Given the description of an element on the screen output the (x, y) to click on. 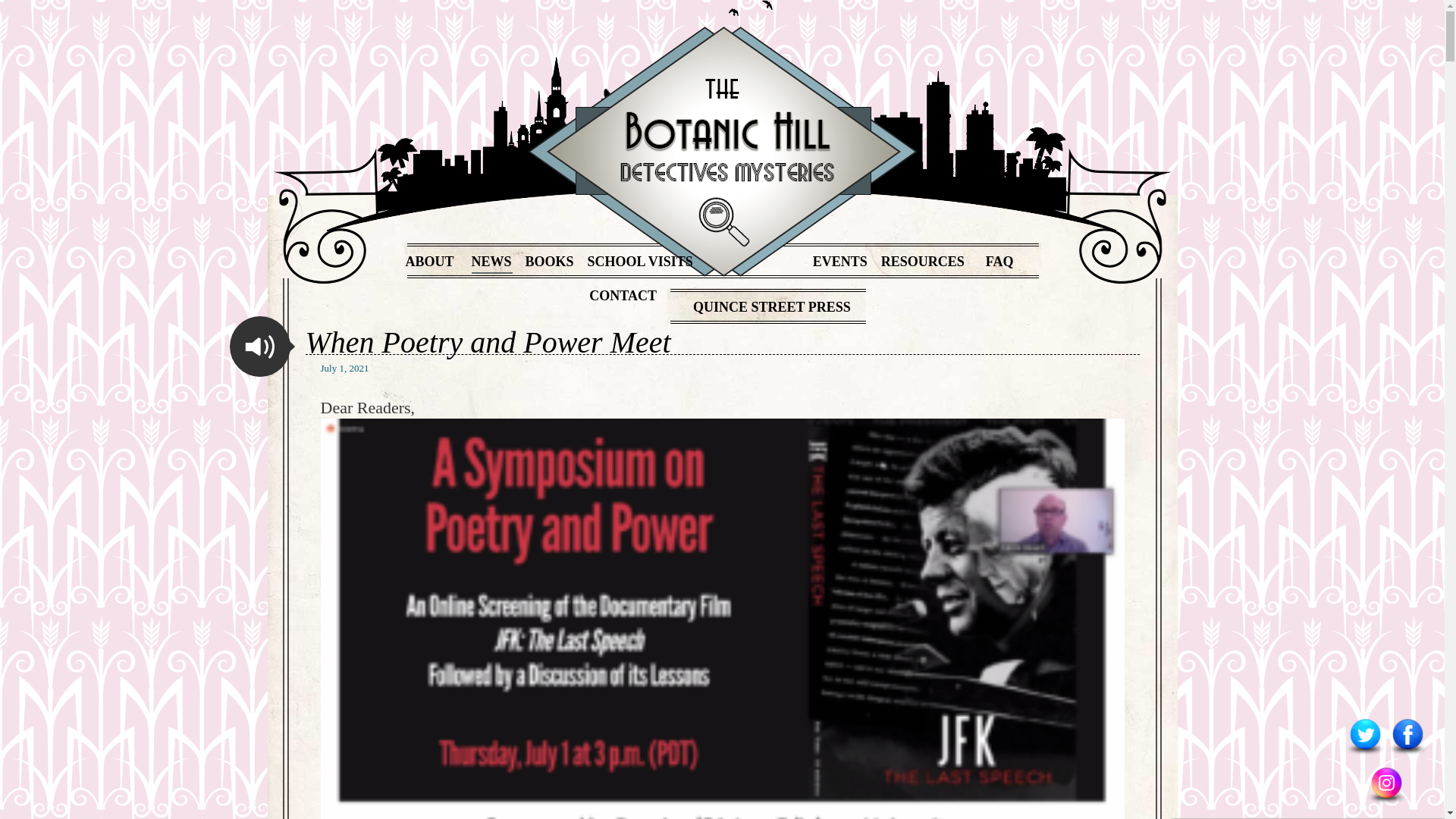
ABOUT (428, 261)
FAQ (999, 261)
NEWS (490, 261)
CONTACT (622, 295)
When Poetry and Power Meet (486, 342)
5:43 pm (344, 368)
Visit Us On Facebook (1407, 753)
Go! (18, 14)
BOOKS (548, 261)
Visit Us On Twitter (1364, 753)
RESOURCES (921, 261)
SCHOOL VISITS (640, 261)
QUINCE STREET PRESS (771, 306)
Visit Us On Instagram (1386, 802)
